Given the description of an element on the screen output the (x, y) to click on. 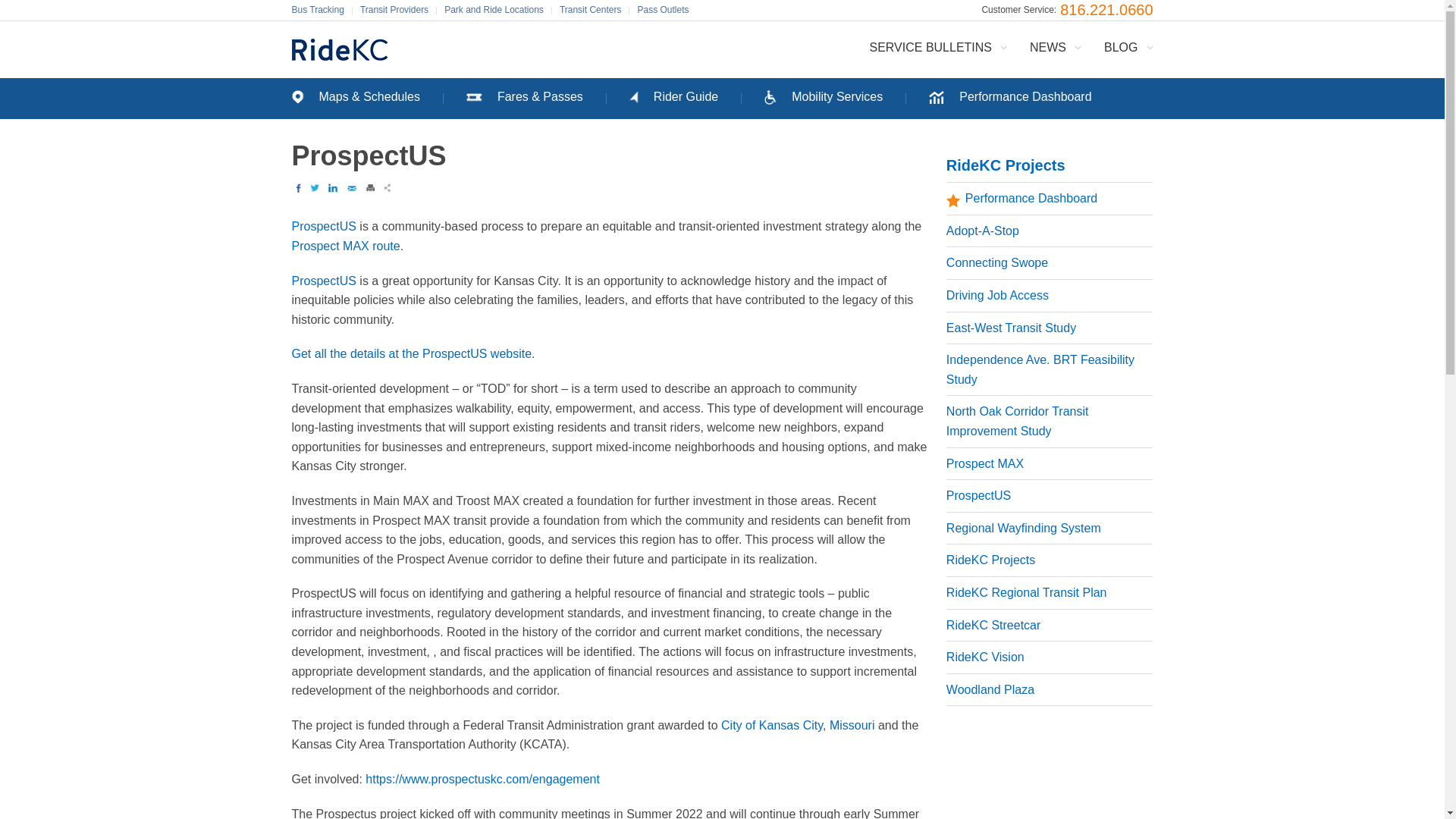
Transit Providers (393, 10)
Transit Centers (589, 10)
Park and Ride Locations (493, 10)
Pass Outlets (661, 10)
NEWS (1055, 47)
Bus Tracking (320, 10)
BLOG (1123, 47)
SERVICE BULLETINS (937, 47)
